Given the description of an element on the screen output the (x, y) to click on. 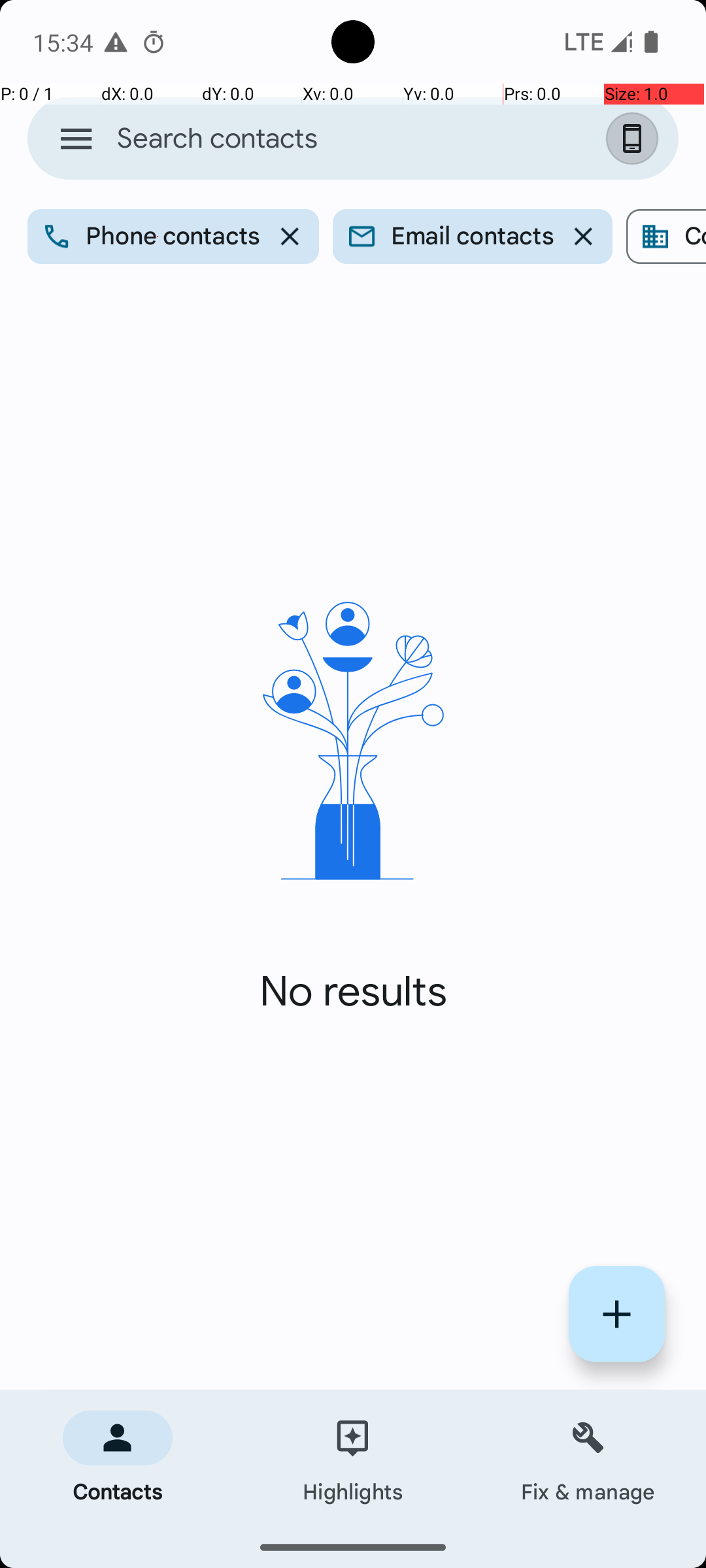
Open navigation drawer Element type: android.widget.ImageButton (75, 138)
No results Element type: android.widget.TextView (353, 991)
Phone contacts Element type: android.widget.Button (173, 236)
Email contacts Element type: android.widget.Button (472, 236)
